Given the description of an element on the screen output the (x, y) to click on. 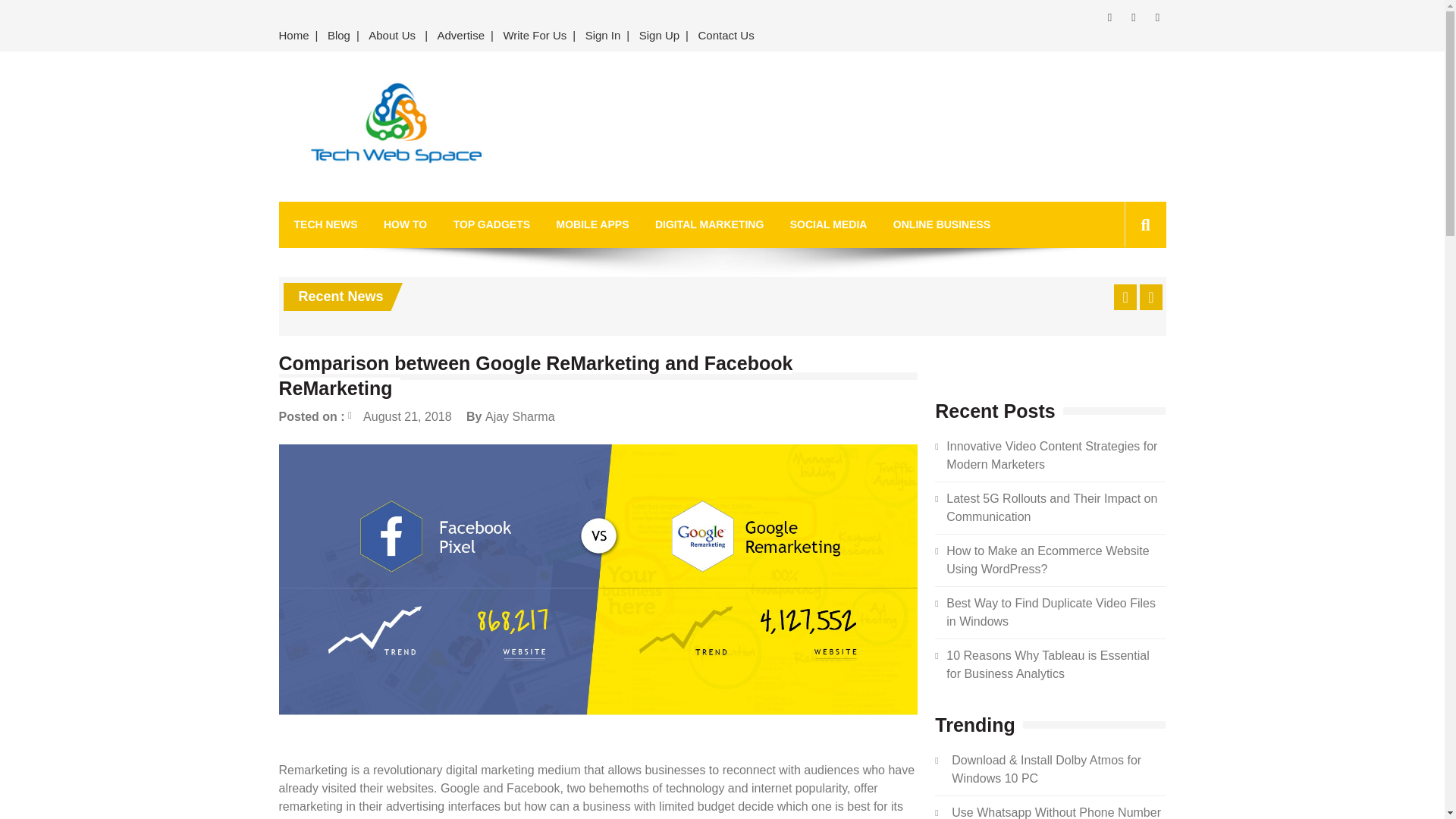
Posts by Ajay Sharma (519, 416)
Contact Us (725, 36)
Write For Us (534, 36)
About Us (392, 36)
Sign In (603, 36)
Sign Up (659, 36)
Blog (338, 36)
Advertise (460, 36)
Home (297, 36)
